Given the description of an element on the screen output the (x, y) to click on. 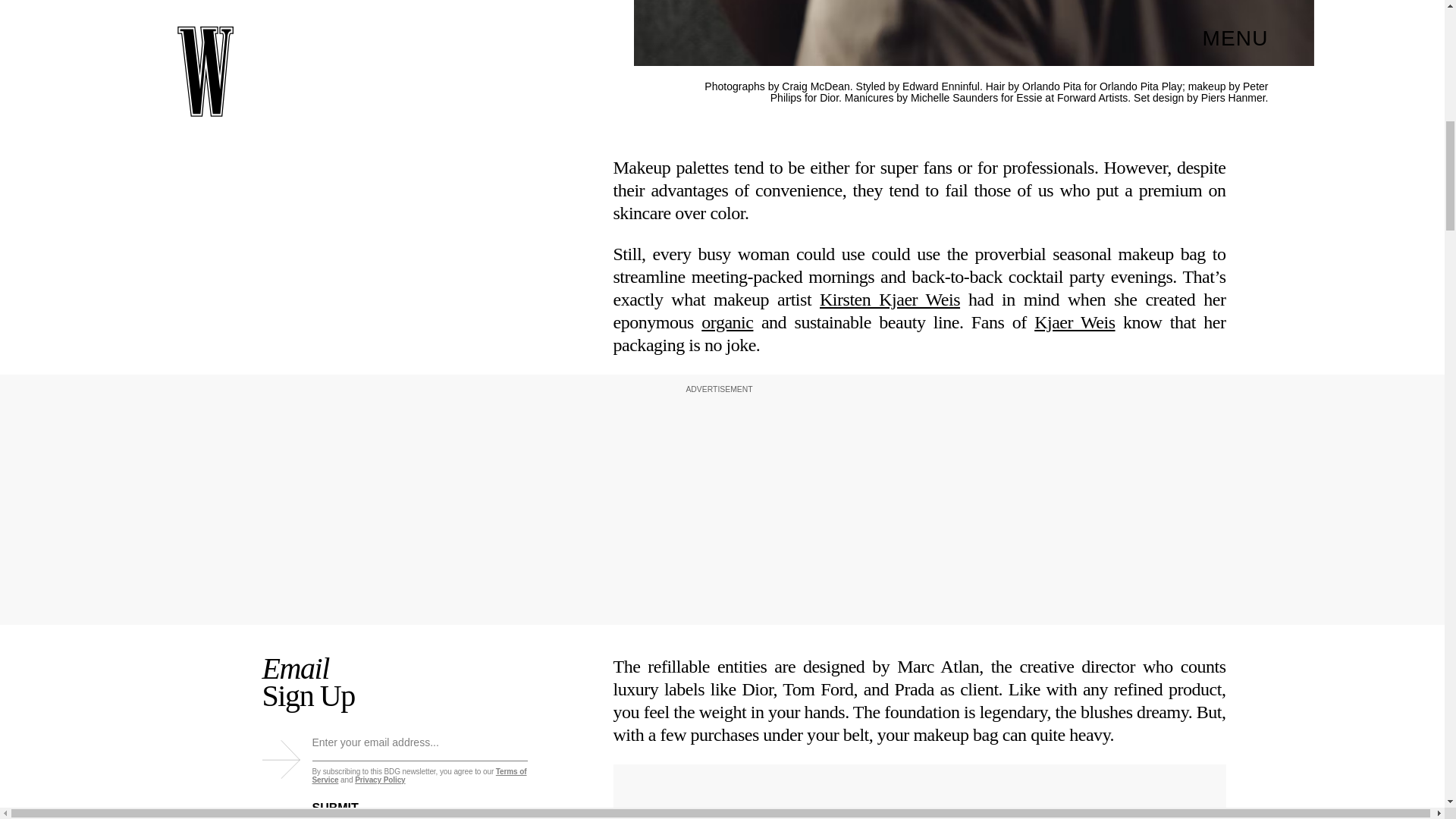
SUBMIT (347, 798)
organic (726, 322)
Terms of Service (420, 775)
Kirsten Kjaer Weis (889, 299)
Kjaer Weis (1074, 322)
Privacy Policy (379, 779)
